Given the description of an element on the screen output the (x, y) to click on. 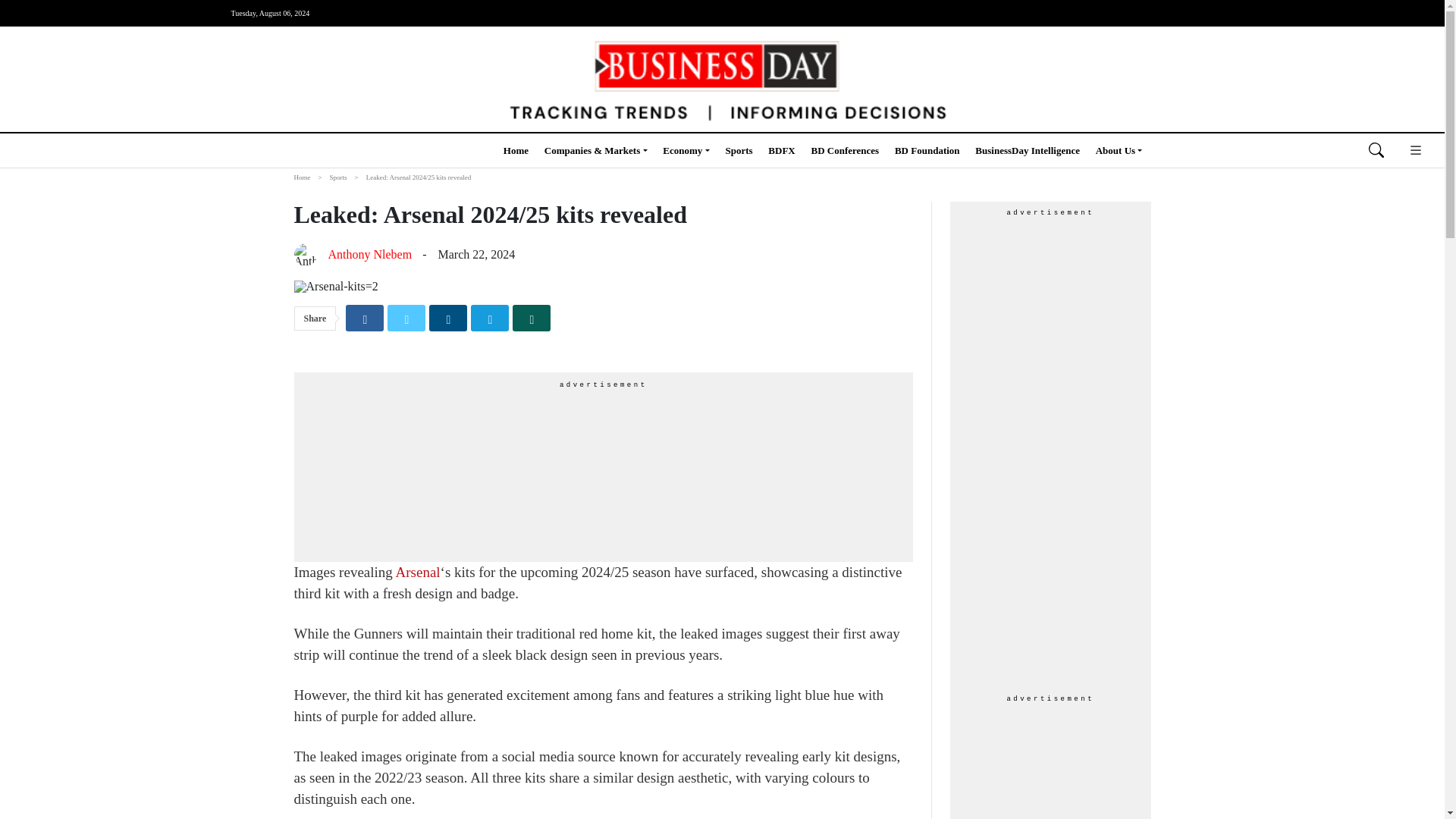
BD Conferences (844, 149)
Economy (685, 149)
BD Foundation (927, 149)
About Us (1119, 149)
BD Foundation (927, 149)
Economy (685, 149)
About Us (1119, 149)
BusinessDay Intelligence (1027, 149)
BusinessDay Intelligence (1027, 149)
BD Conferences (844, 149)
